Given the description of an element on the screen output the (x, y) to click on. 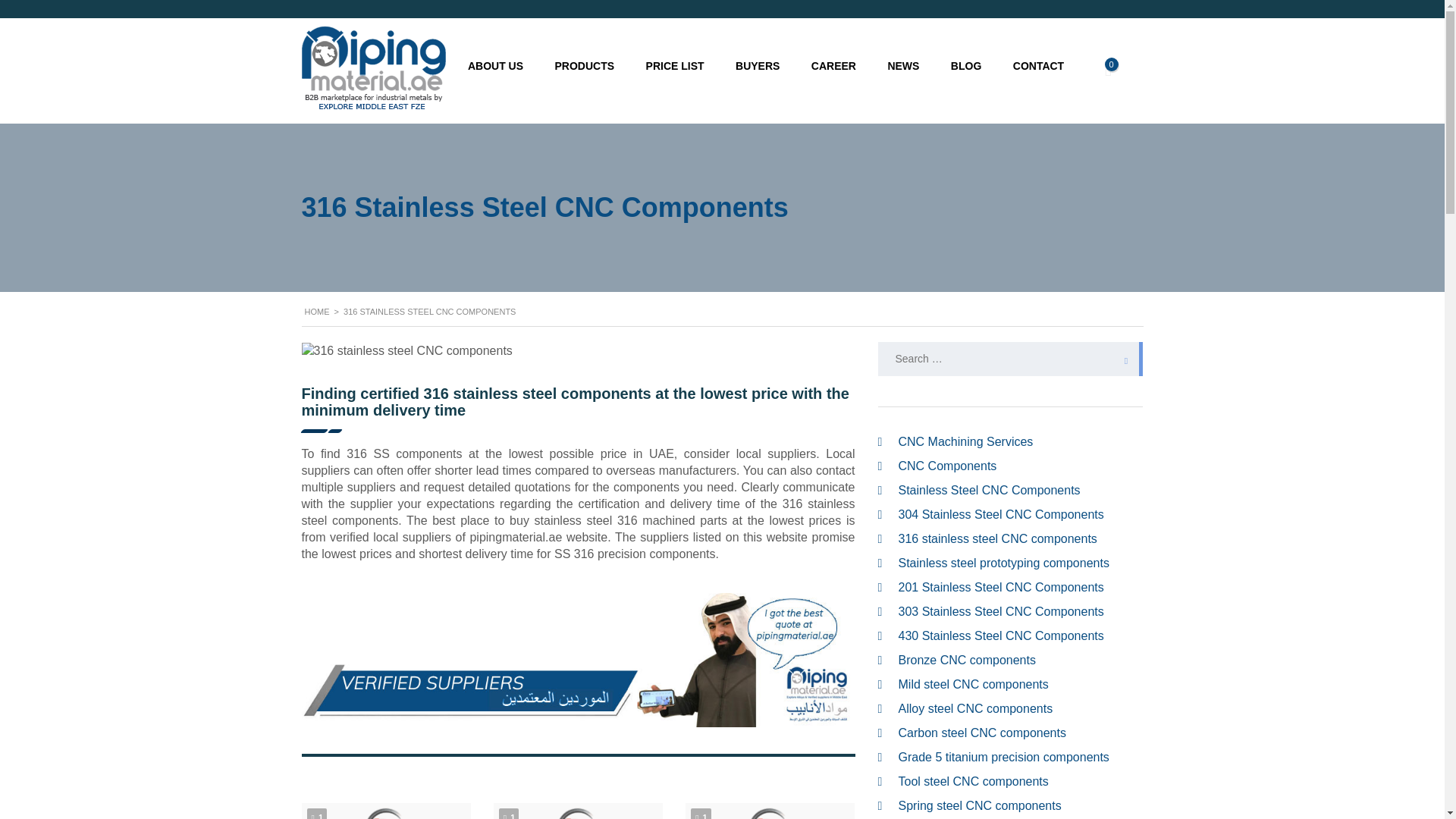
Mild steel CNC components (973, 684)
Tool steel CNC components (973, 780)
HOME (317, 311)
CNC Components (946, 465)
BUYERS (756, 65)
CAREER (833, 65)
PRICE LIST (675, 65)
Search (1121, 358)
Carbon steel CNC components (981, 732)
PRODUCTS (584, 65)
